Given the description of an element on the screen output the (x, y) to click on. 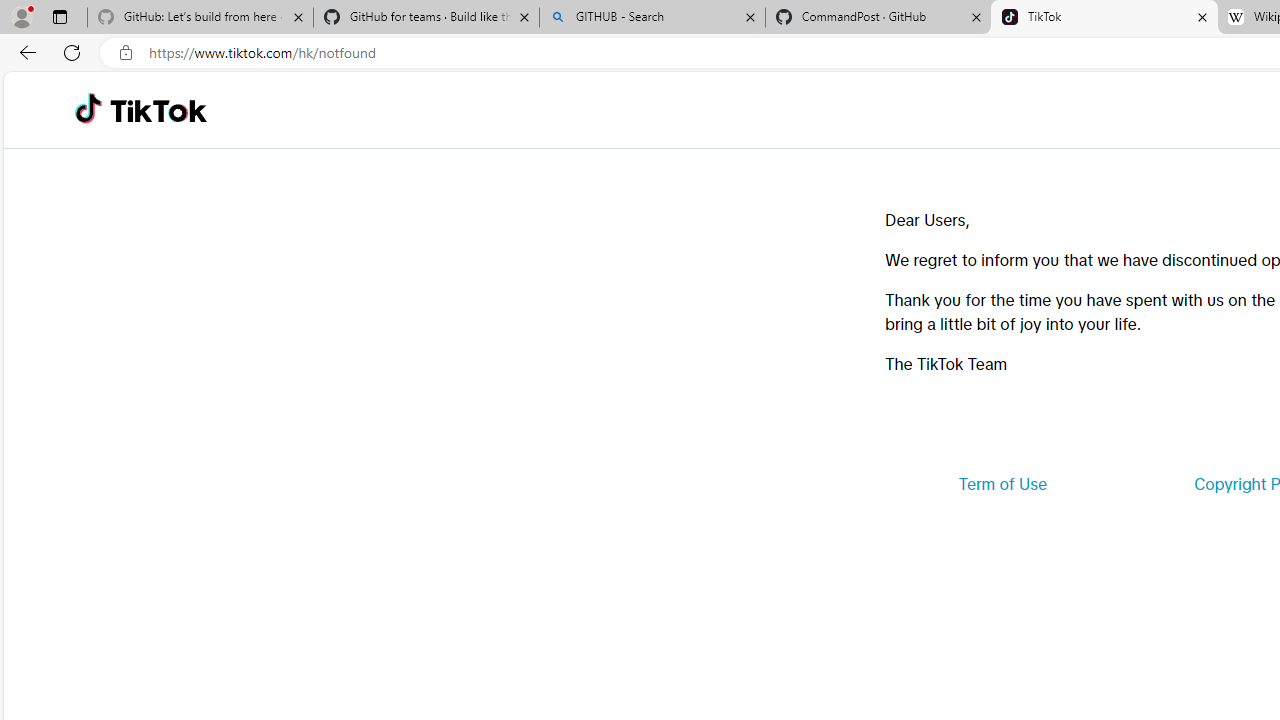
GITHUB - Search (652, 17)
Term of Use (1002, 484)
